Given the description of an element on the screen output the (x, y) to click on. 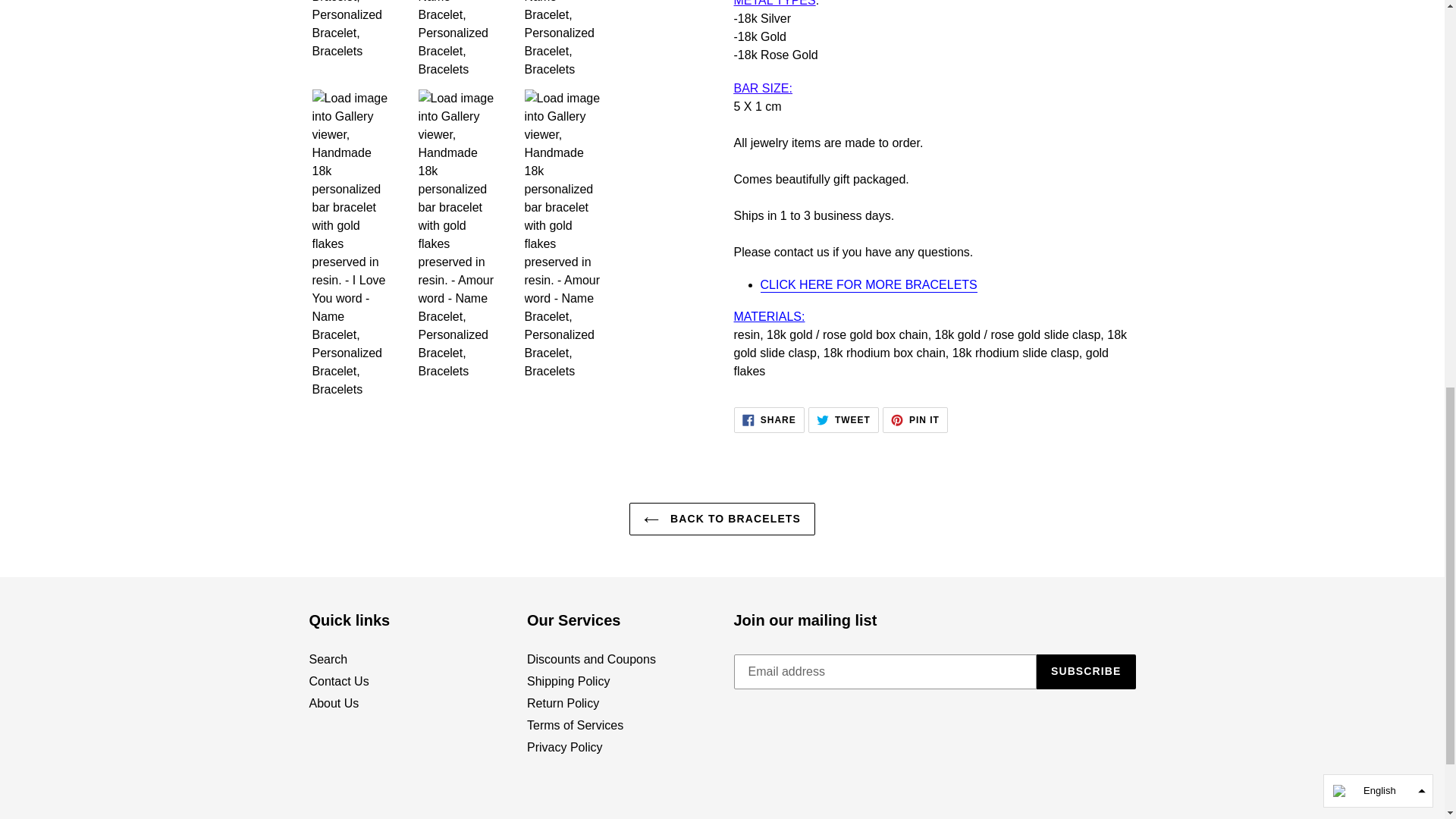
bracelets (868, 285)
